Given the description of an element on the screen output the (x, y) to click on. 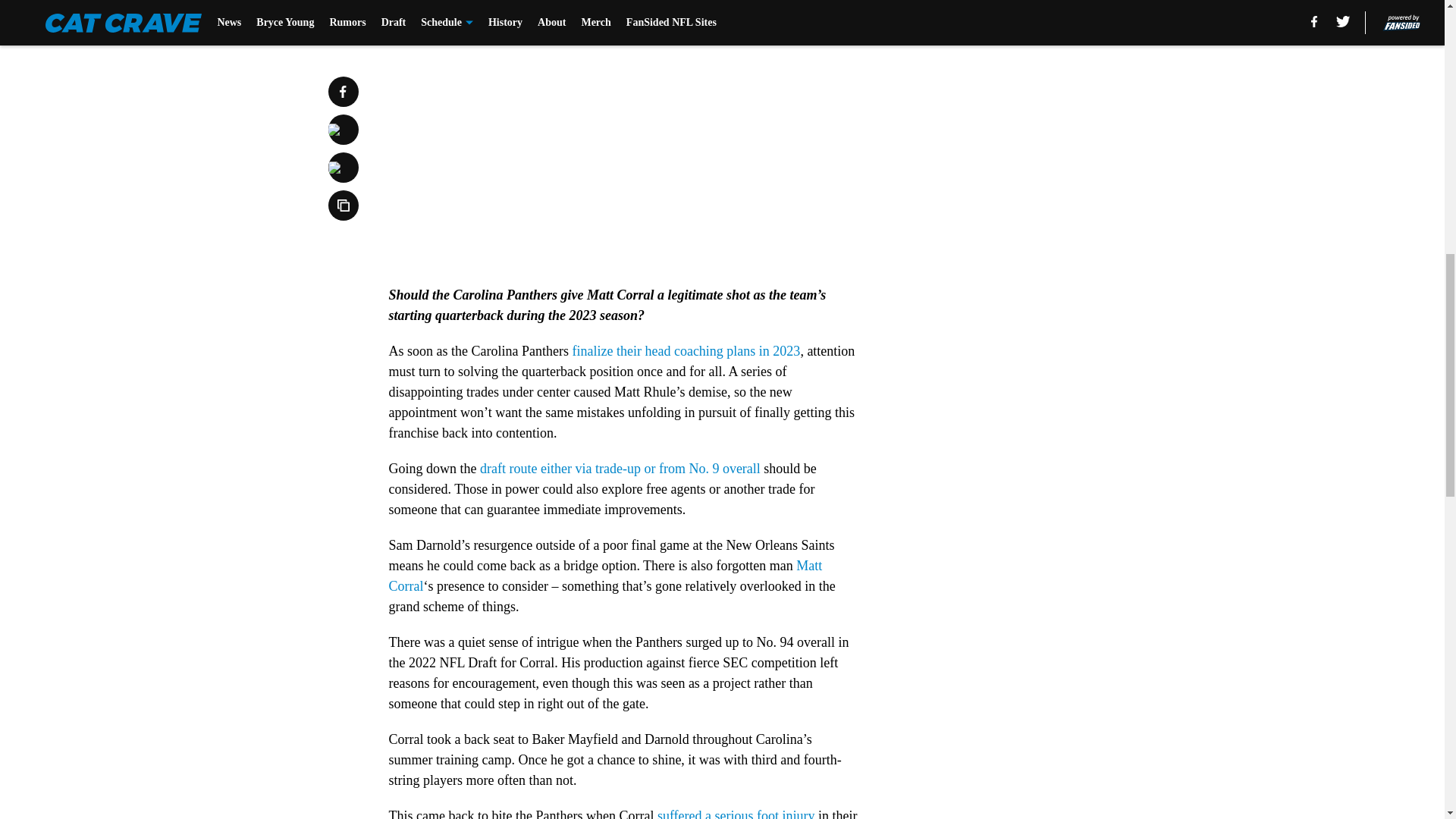
suffered a serious foot injury (736, 813)
draft route either via trade-up or from No. 9 overall (620, 468)
finalize their head coaching plans in 2023 (685, 350)
Matt Corral (605, 575)
